Given the description of an element on the screen output the (x, y) to click on. 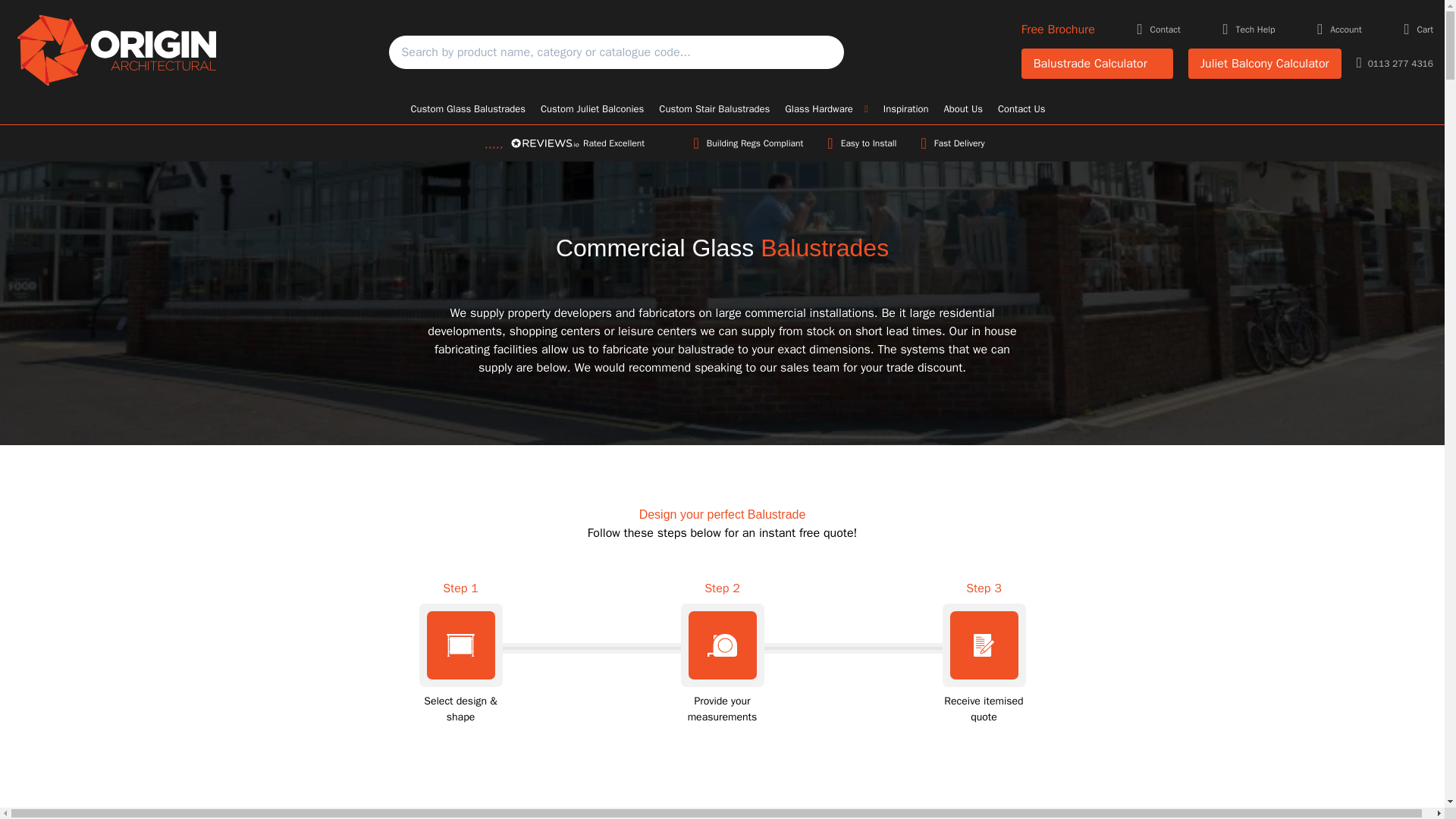
0113 277 4316 (1394, 63)
Custom Juliet Balconies (591, 109)
Balustrade Calculator (1097, 63)
Contact (1158, 29)
Cart (1417, 29)
Tech Help (1249, 29)
Custom Stair Balustrades (713, 109)
iframe (722, 790)
Free Brochure (1058, 29)
Juliet Balcony Calculator (1264, 63)
Custom Glass Balustrades (467, 109)
Glass Hardware (826, 109)
